Given the description of an element on the screen output the (x, y) to click on. 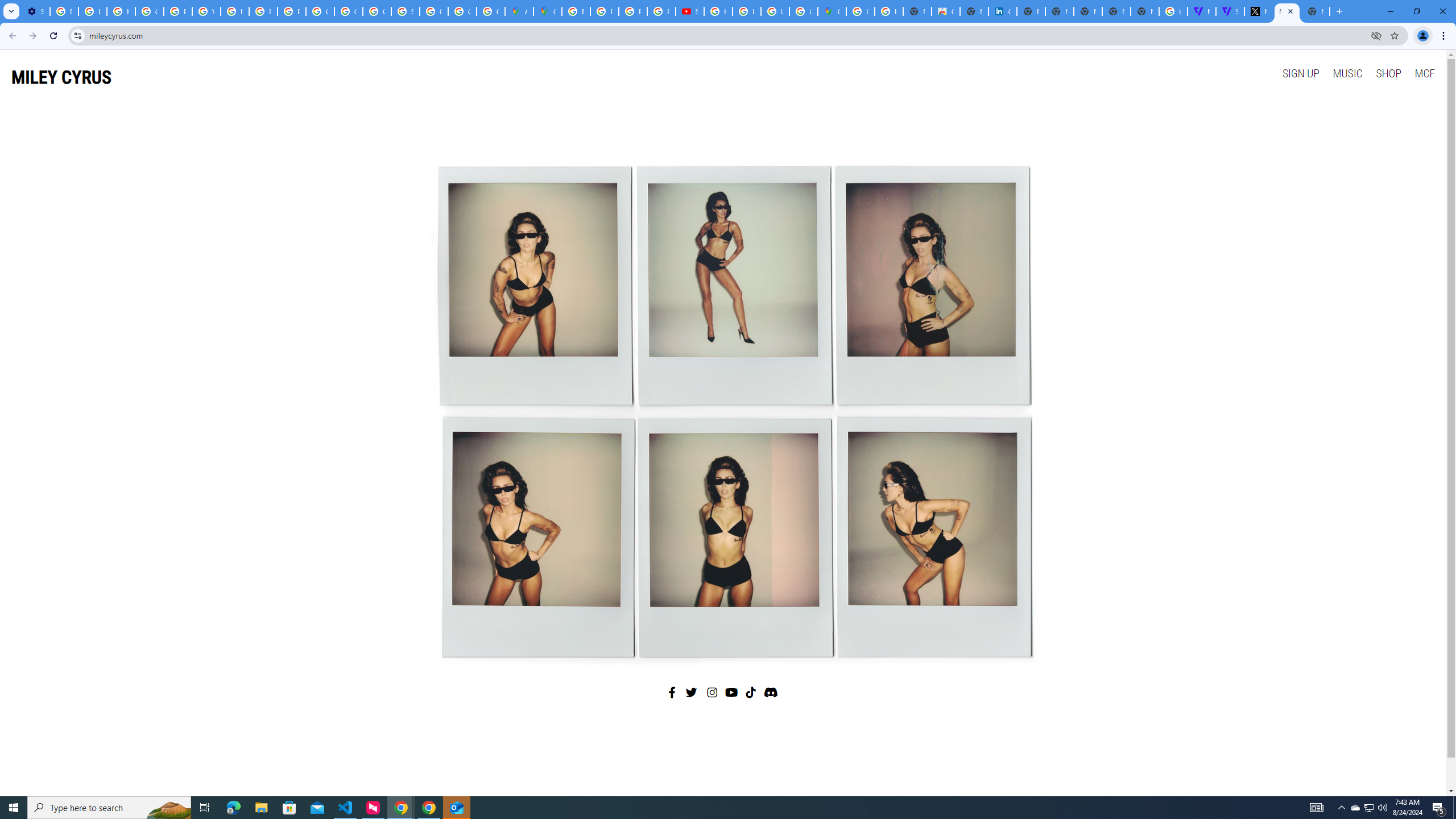
YouTube (206, 11)
SHOP (1387, 73)
Miley Cyrus (722, 407)
